Given the description of an element on the screen output the (x, y) to click on. 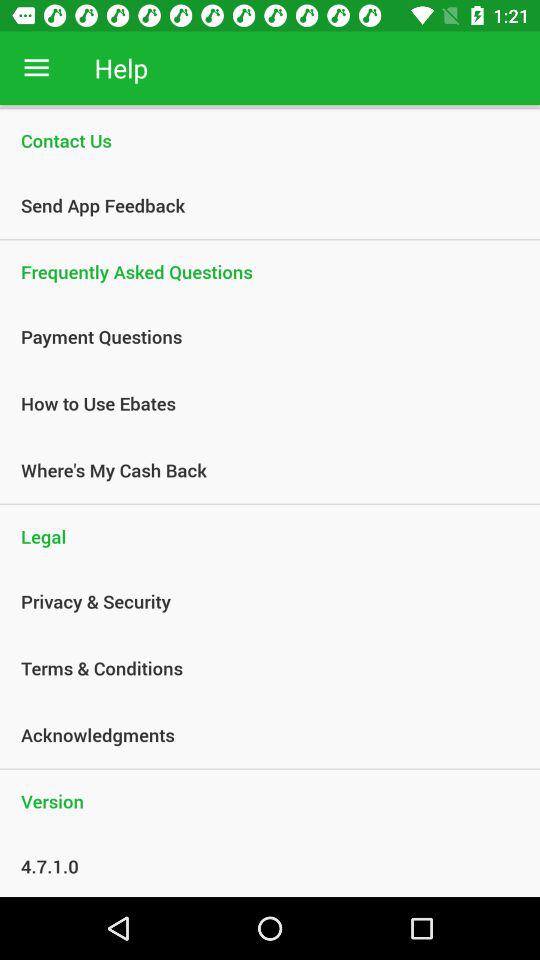
choose the 4 7 1 icon (259, 865)
